Given the description of an element on the screen output the (x, y) to click on. 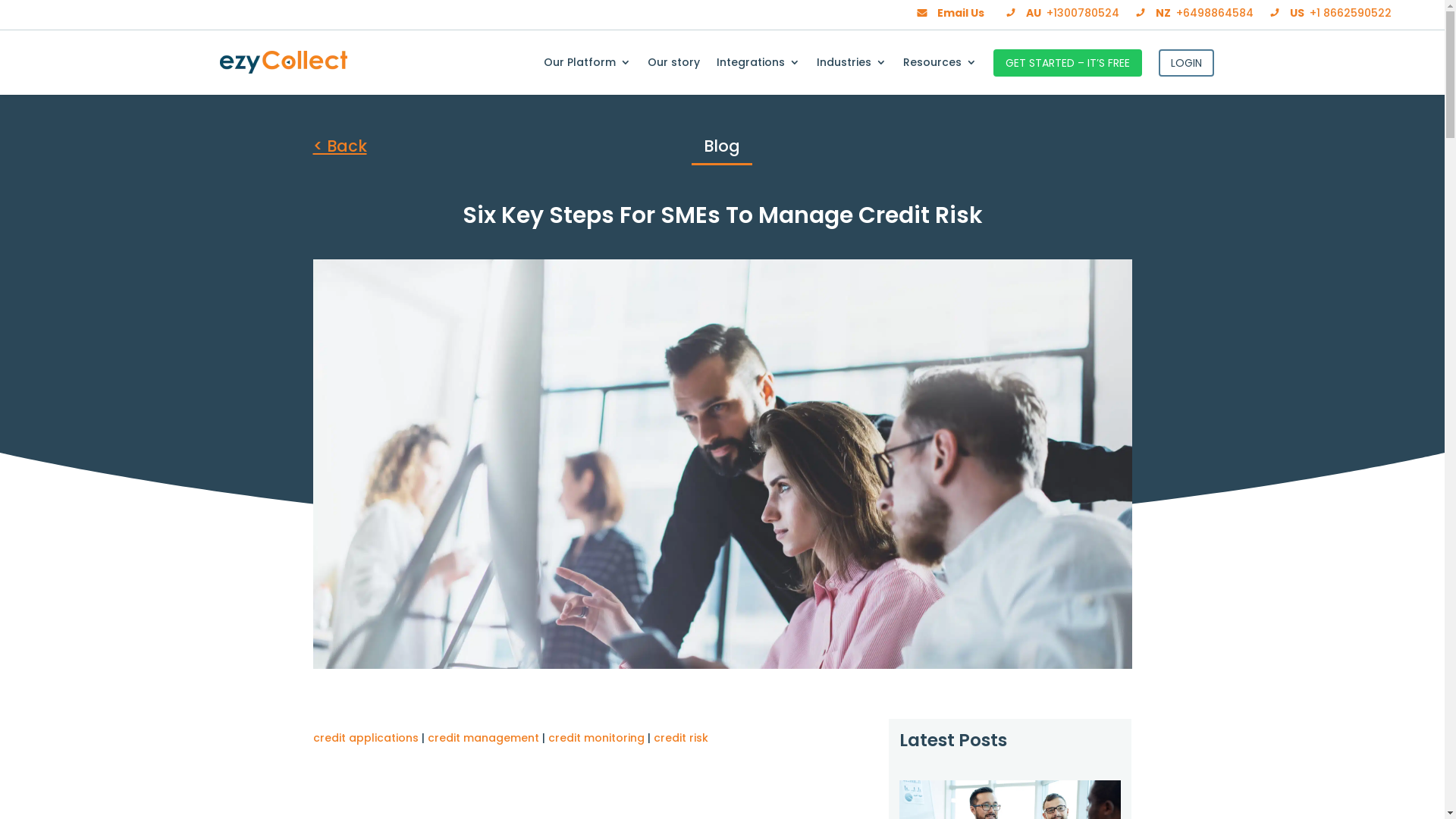
ezyCollect logo colour 1 Element type: hover (283, 61)
Our Platform Element type: text (586, 73)
+6498864584 Element type: text (1214, 12)
Shiju Thomas Element type: text (656, 676)
LOGIN Element type: text (1186, 62)
credit applications Element type: text (364, 737)
0 comments Element type: text (805, 676)
credit monitoring Element type: text (595, 737)
+1 8662590522 Element type: text (1350, 12)
credit management Element type: text (483, 737)
credit risk Element type: text (680, 737)
Industries Element type: text (851, 73)
NZ Element type: text (1151, 12)
< Back Element type: text (339, 145)
Resources Element type: text (939, 73)
+1300780524 Element type: text (1082, 12)
US Element type: text (1285, 12)
Our story Element type: text (673, 73)
AU Element type: text (1022, 12)
Email Us Element type: text (949, 12)
Integrations Element type: text (758, 73)
